Given the description of an element on the screen output the (x, y) to click on. 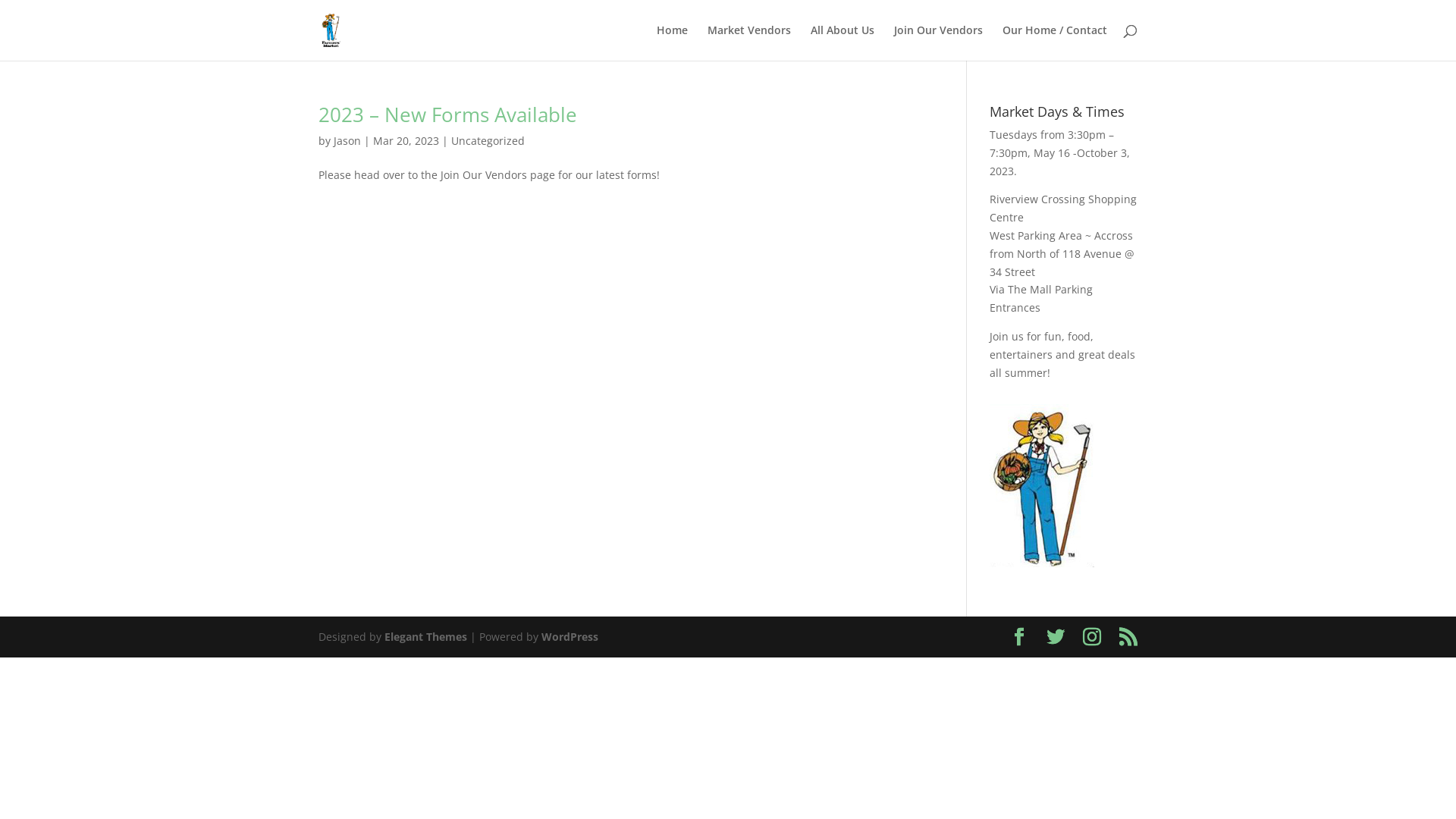
Home Element type: text (671, 42)
WordPress Element type: text (569, 636)
Market Vendors Element type: text (748, 42)
Elegant Themes Element type: text (425, 636)
Join Our Vendors Element type: text (938, 42)
Jason Element type: text (346, 140)
Our Home / Contact Element type: text (1054, 42)
Uncategorized Element type: text (487, 140)
All About Us Element type: text (842, 42)
